Given the description of an element on the screen output the (x, y) to click on. 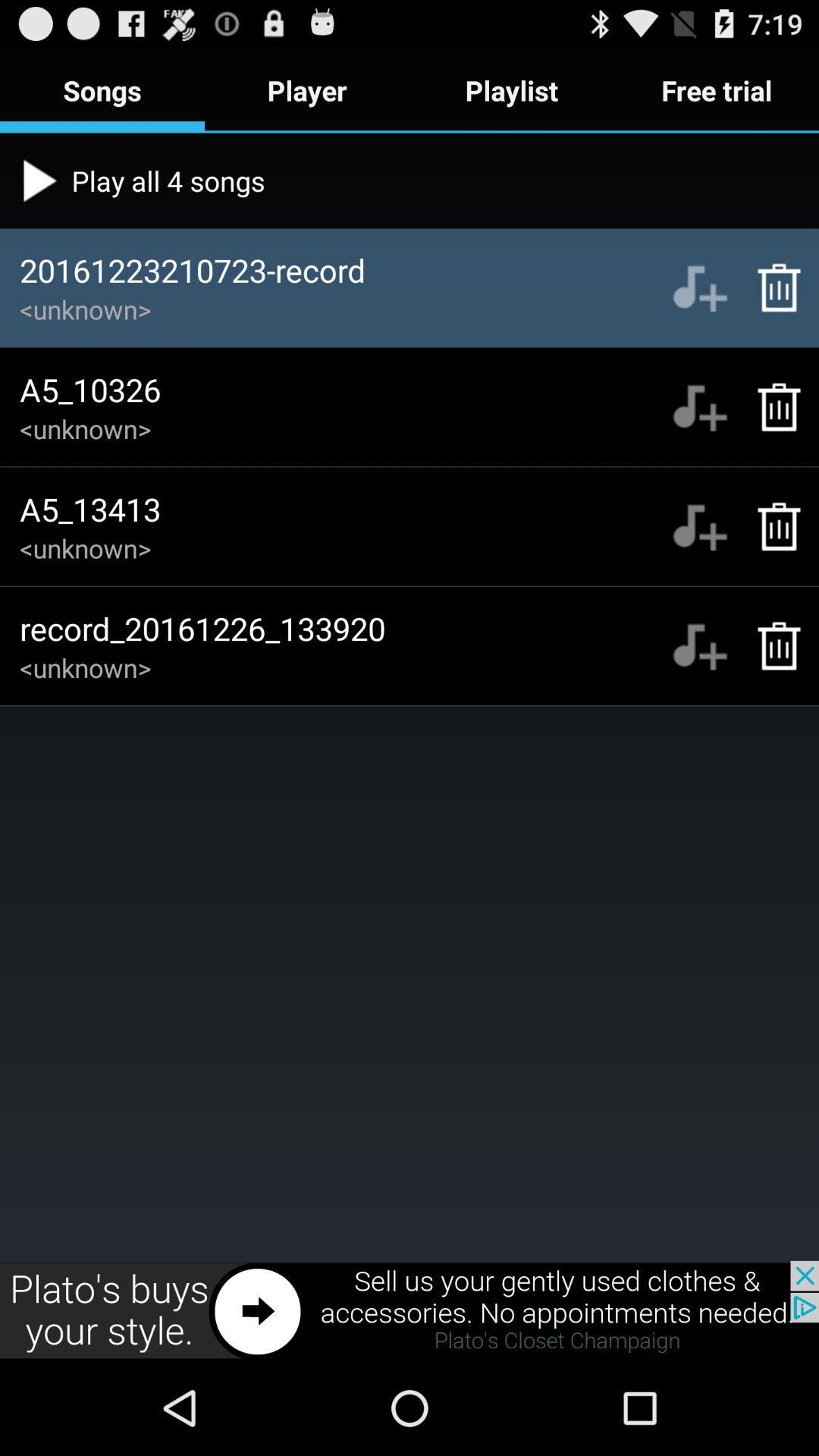
add to playlist (699, 287)
